Given the description of an element on the screen output the (x, y) to click on. 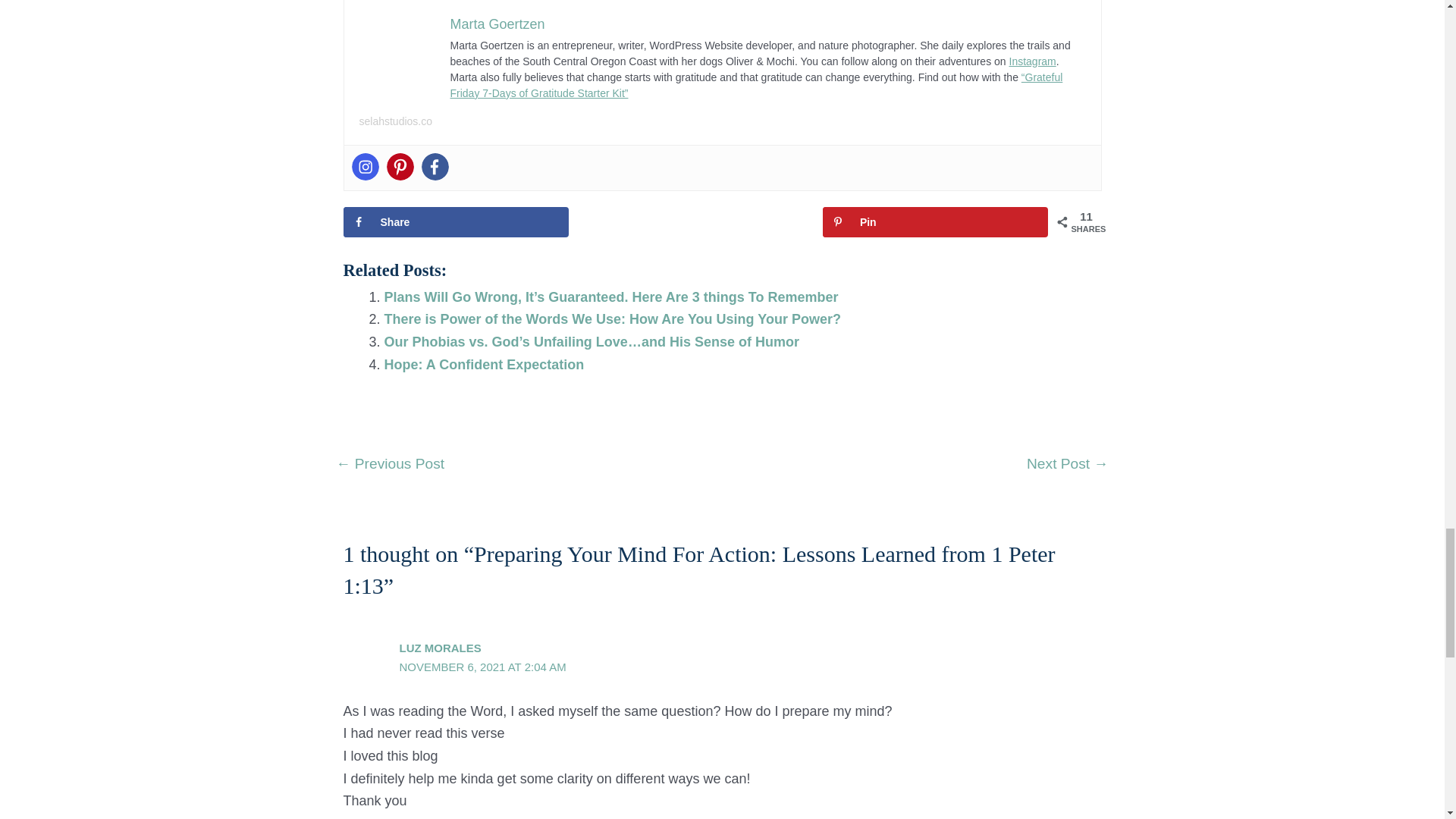
Hope: A Confident Expectation (483, 364)
Instagram (1032, 61)
Facebook (435, 166)
selahstudios.co (395, 121)
Share on Facebook (455, 222)
Instagram (365, 166)
Pin (935, 222)
Marta Goertzen (496, 23)
Pinterest (400, 166)
How Sabbath Rest Can Help Manage Stress and Anxiety (1066, 464)
Tweet (696, 222)
Save to Pinterest (935, 222)
NOVEMBER 6, 2021 AT 2:04 AM (482, 666)
